Given the description of an element on the screen output the (x, y) to click on. 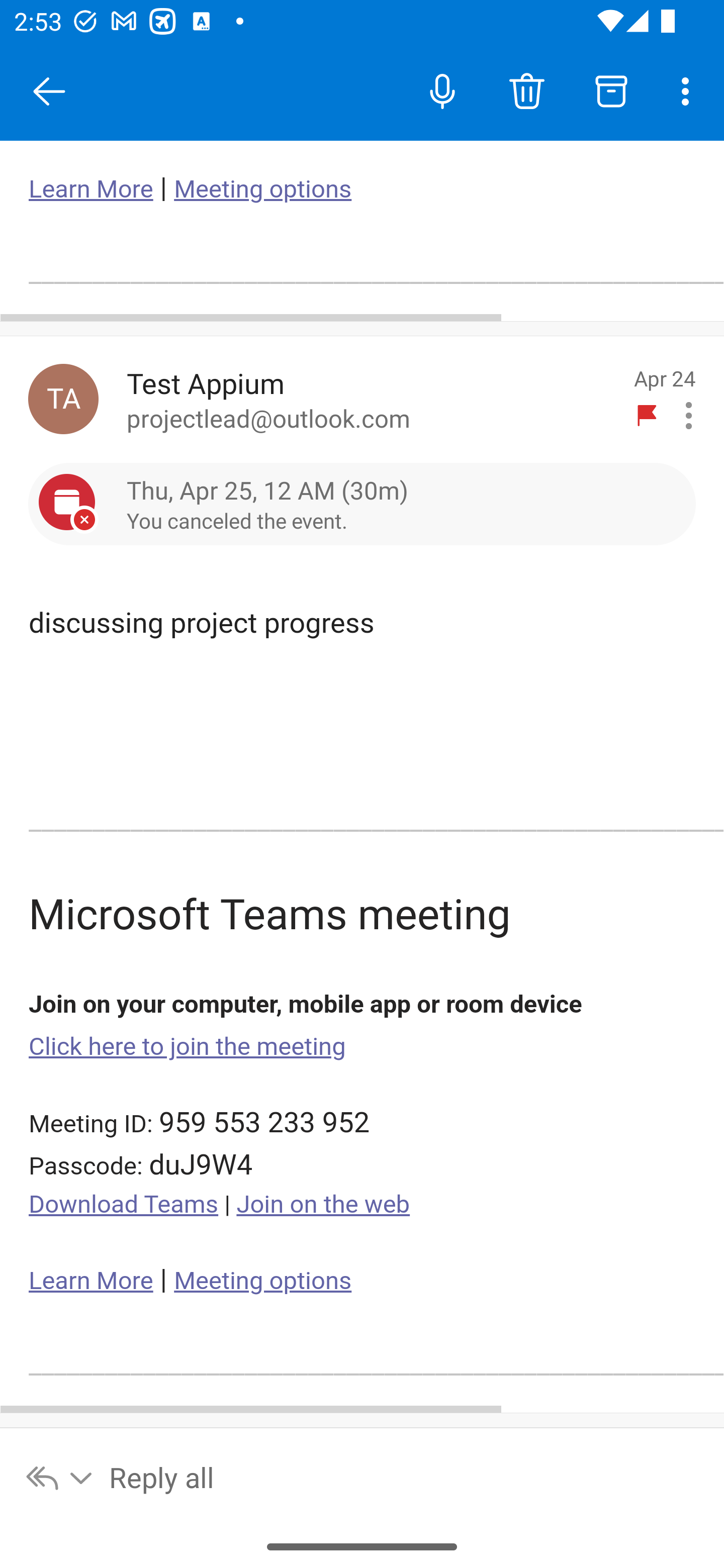
Close (49, 91)
Delete (526, 90)
Archive (611, 90)
More options (688, 90)
Learn More (90, 189)
Meeting options (262, 189)
Test Appium, testappium002@outlook.com (63, 398)
Test Appium
to projectlead@outlook.com (372, 398)
Message actions (688, 416)
Click here to join the meeting (187, 1046)
Download Teams (124, 1204)
Join on the web (323, 1204)
Learn More (90, 1280)
Meeting options (262, 1280)
Reply options (59, 1476)
